Given the description of an element on the screen output the (x, y) to click on. 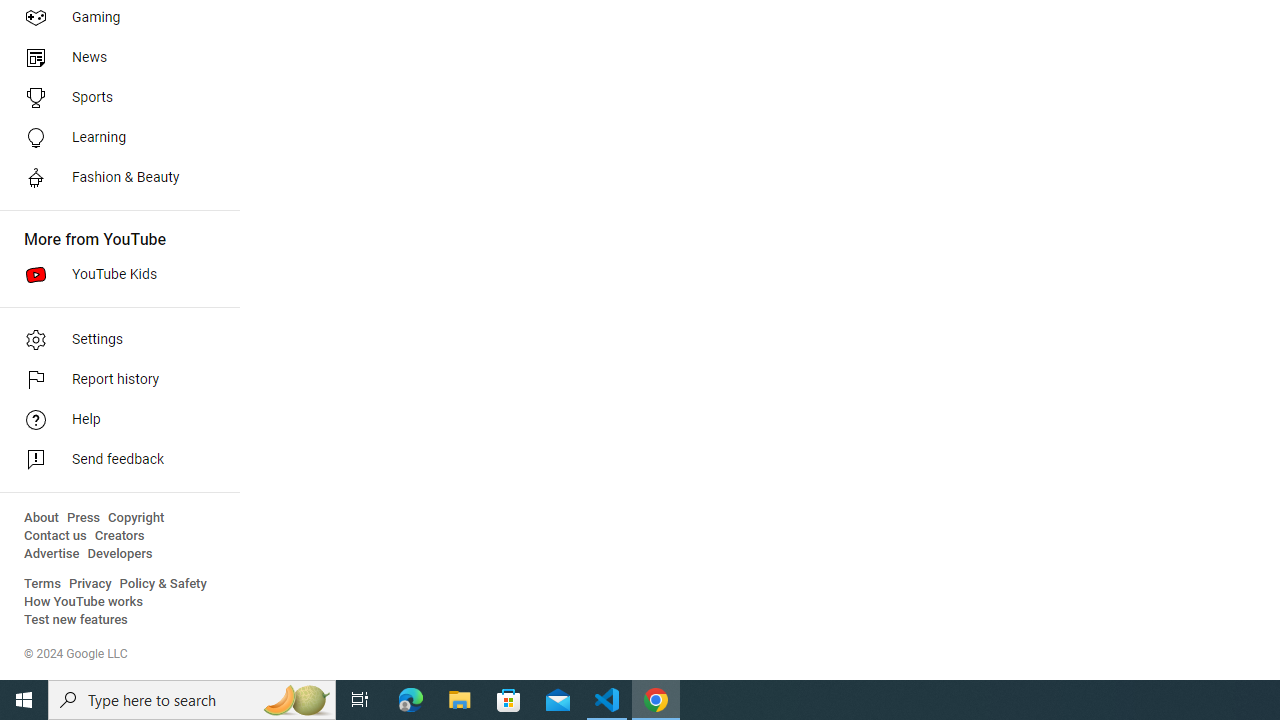
Terms (42, 584)
Copyright (136, 518)
Creators (118, 536)
Help (113, 419)
Settings (113, 339)
Send feedback (113, 459)
